Given the description of an element on the screen output the (x, y) to click on. 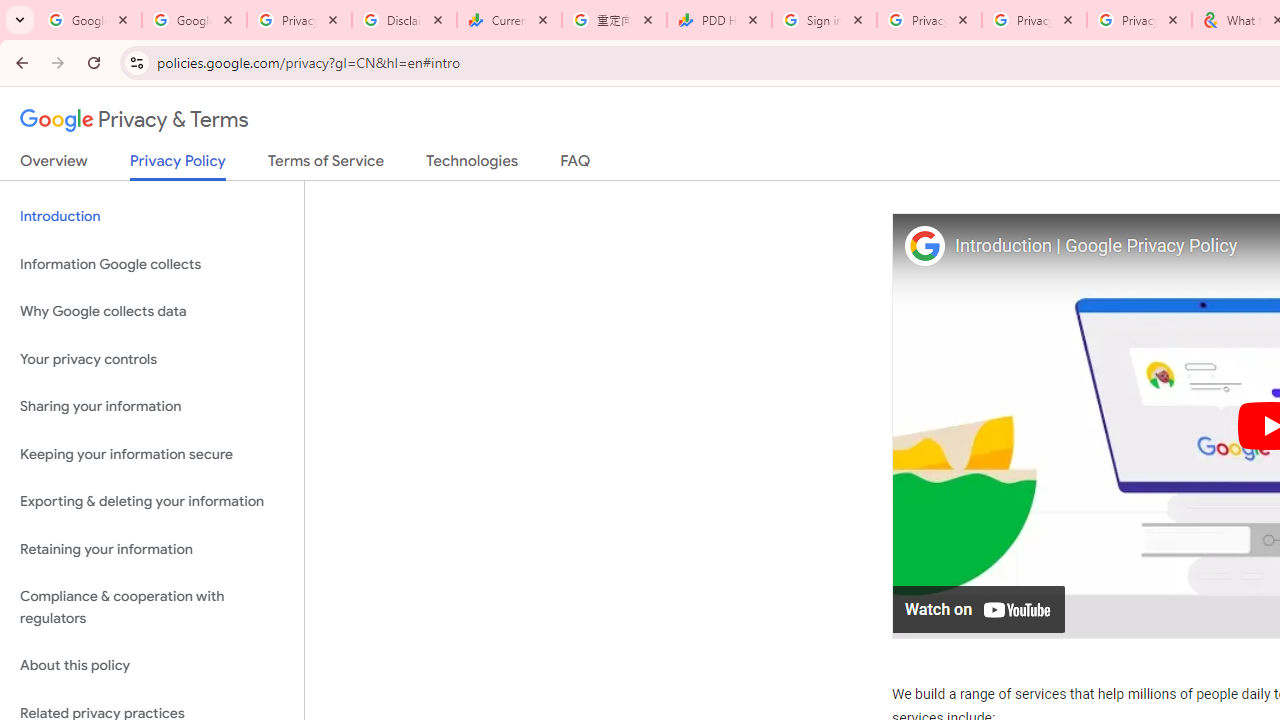
PDD Holdings Inc - ADR (PDD) Price & News - Google Finance (718, 20)
Retaining your information (152, 548)
Watch on YouTube (979, 608)
Sign in - Google Accounts (823, 20)
Sharing your information (152, 407)
Technologies (472, 165)
Privacy Checkup (1138, 20)
